Given the description of an element on the screen output the (x, y) to click on. 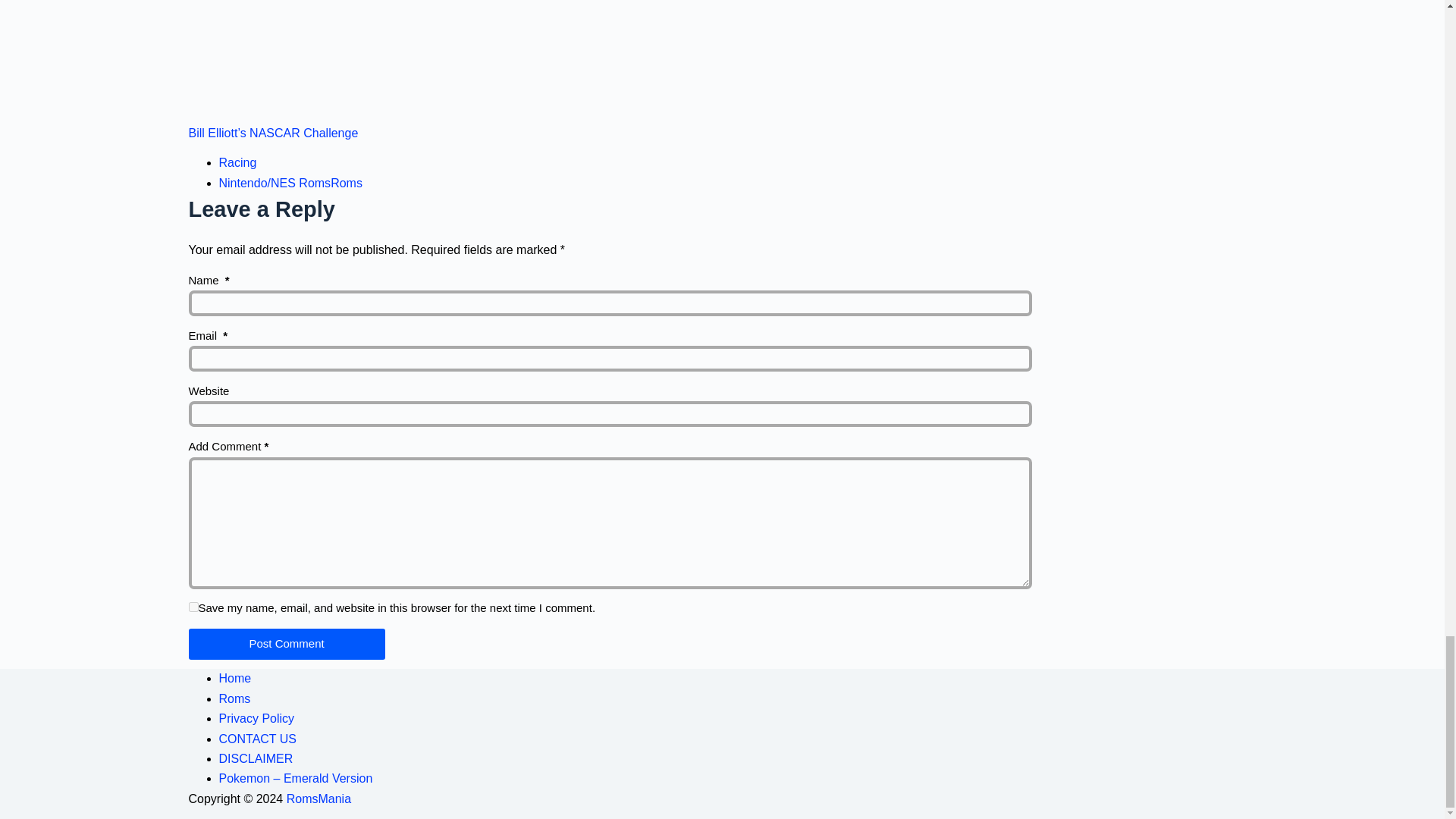
yes (192, 606)
